Given the description of an element on the screen output the (x, y) to click on. 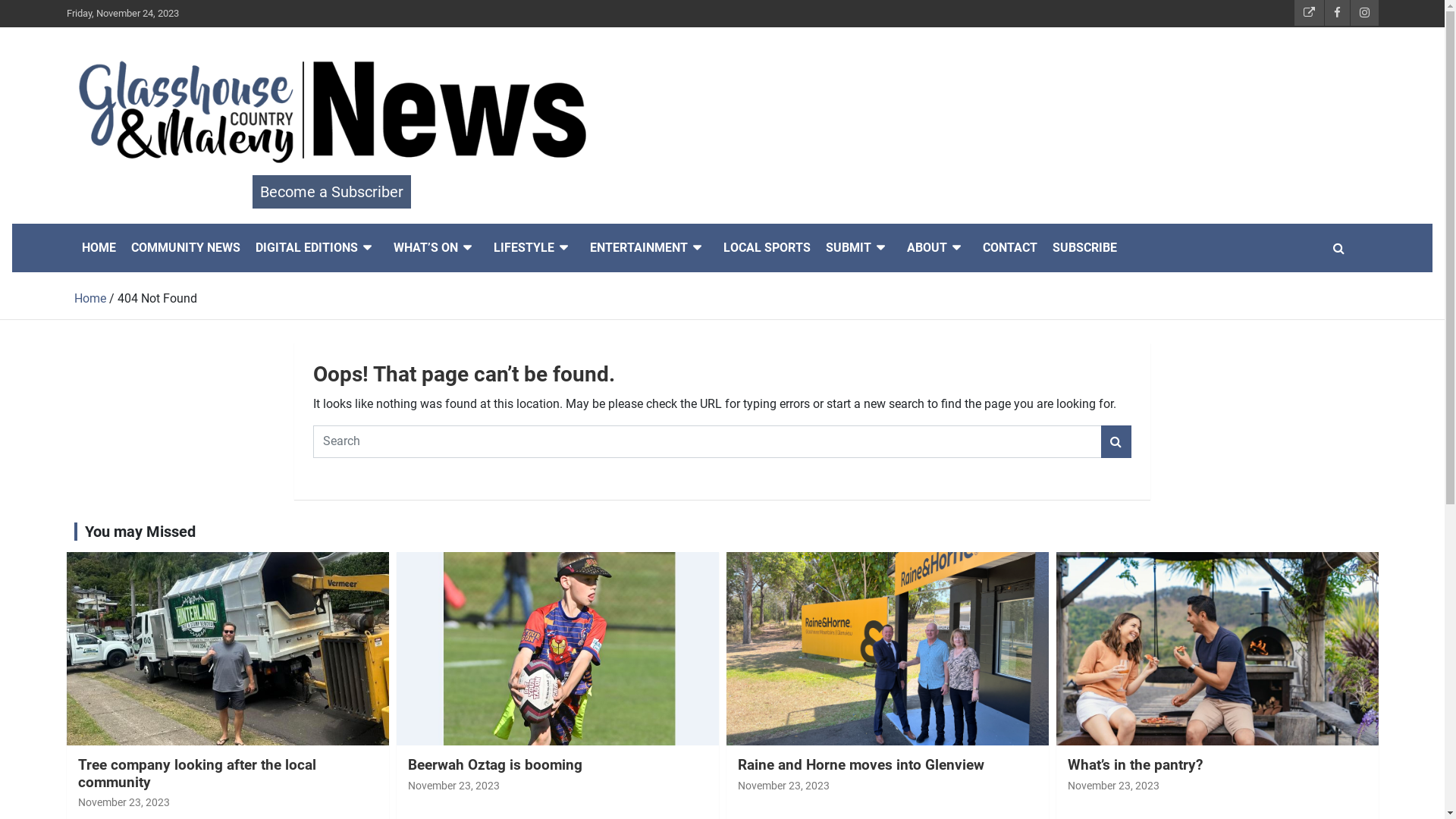
Search Element type: text (1116, 441)
LOCAL SPORTS Element type: text (766, 247)
Raine and Horne moves into Glenview Element type: text (860, 764)
DIGITAL EDITIONS Element type: text (316, 247)
ABOUT Element type: text (937, 247)
Beerwah Oztag is booming Element type: text (494, 764)
You may Missed Element type: text (139, 531)
Tree company looking after the local community Element type: text (196, 773)
ENTERTAINMENT Element type: text (648, 247)
COMMUNITY NEWS Element type: text (184, 247)
SUBSCRIBE Element type: text (1084, 247)
November 23, 2023 Element type: text (123, 802)
November 23, 2023 Element type: text (453, 785)
LIFESTYLE Element type: text (533, 247)
November 23, 2023 Element type: text (1113, 785)
CONTACT Element type: text (1009, 247)
November 23, 2023 Element type: text (782, 785)
Home Element type: text (90, 298)
SUBMIT Element type: text (857, 247)
HOME Element type: text (98, 247)
Become a Subscriber Element type: text (330, 191)
Glasshouse Country & Maleny News Element type: text (320, 220)
